Given the description of an element on the screen output the (x, y) to click on. 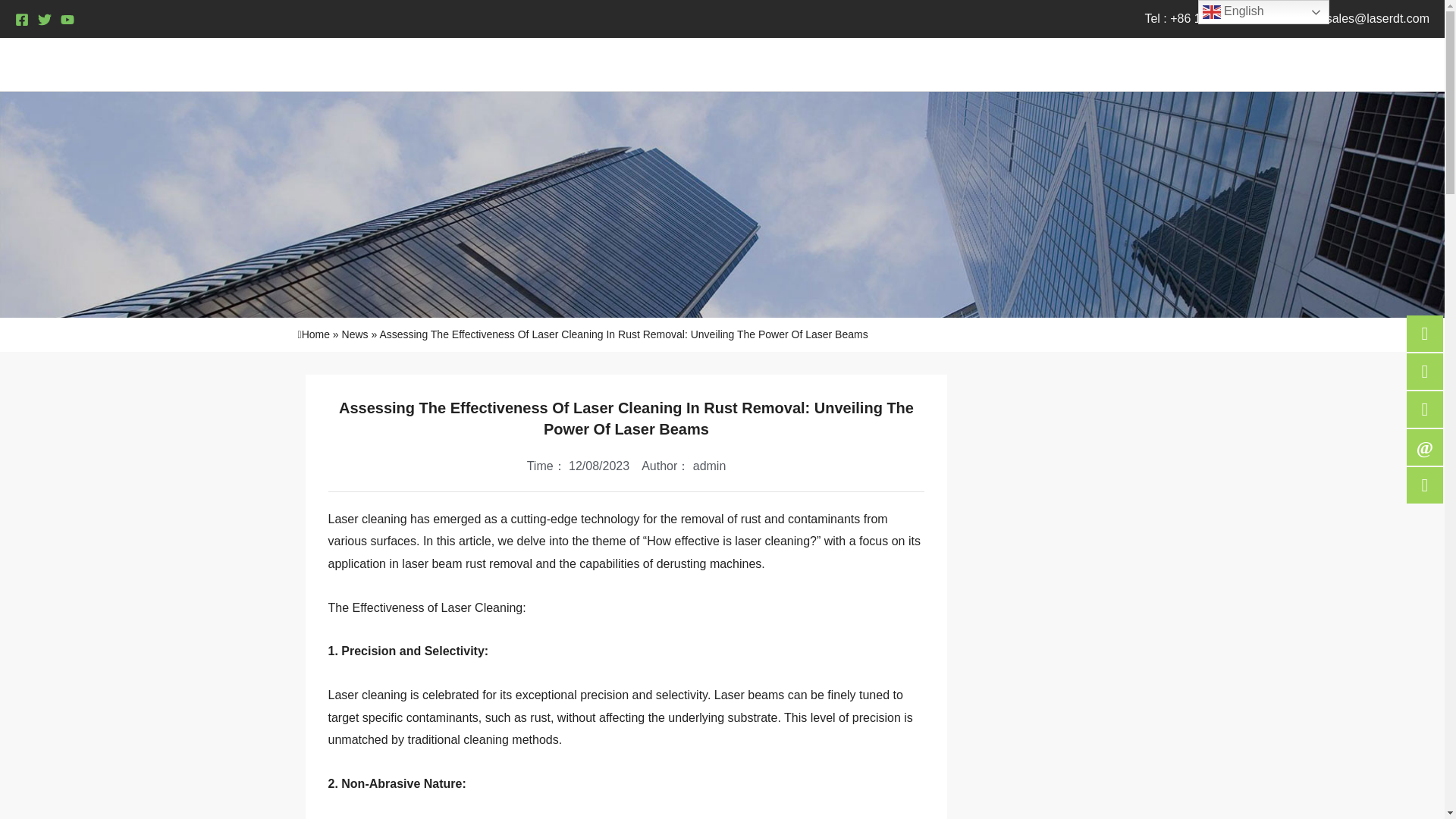
News (1245, 63)
VR (1404, 63)
Contact Us (1329, 63)
Products (1073, 63)
About Us (1168, 63)
Home (987, 63)
